Given the description of an element on the screen output the (x, y) to click on. 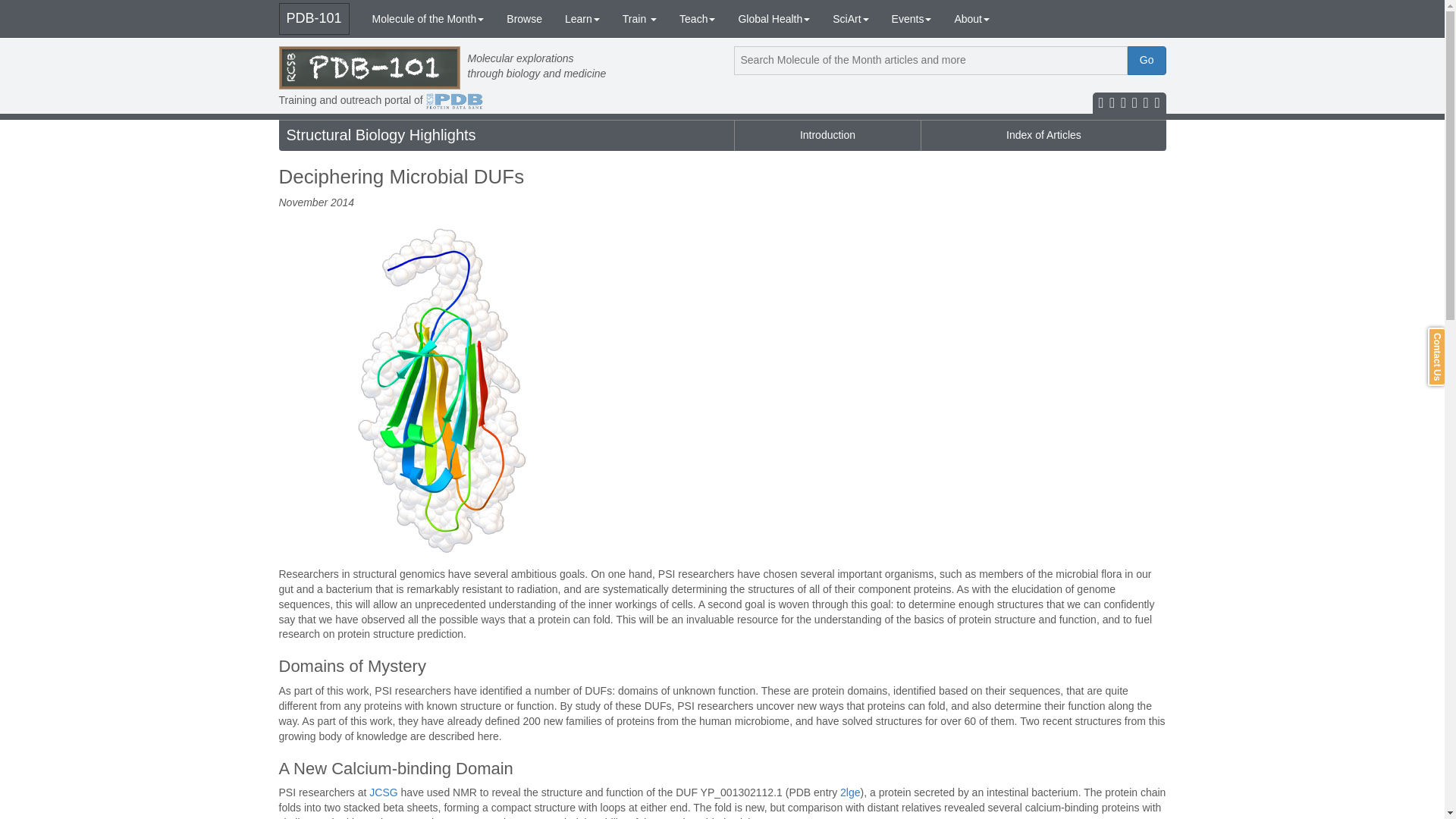
Learn (582, 18)
Browse (524, 18)
Train (639, 18)
Global Health (773, 18)
PDB-101 (314, 19)
Teach (697, 18)
Molecule of the Month (428, 18)
